Given the description of an element on the screen output the (x, y) to click on. 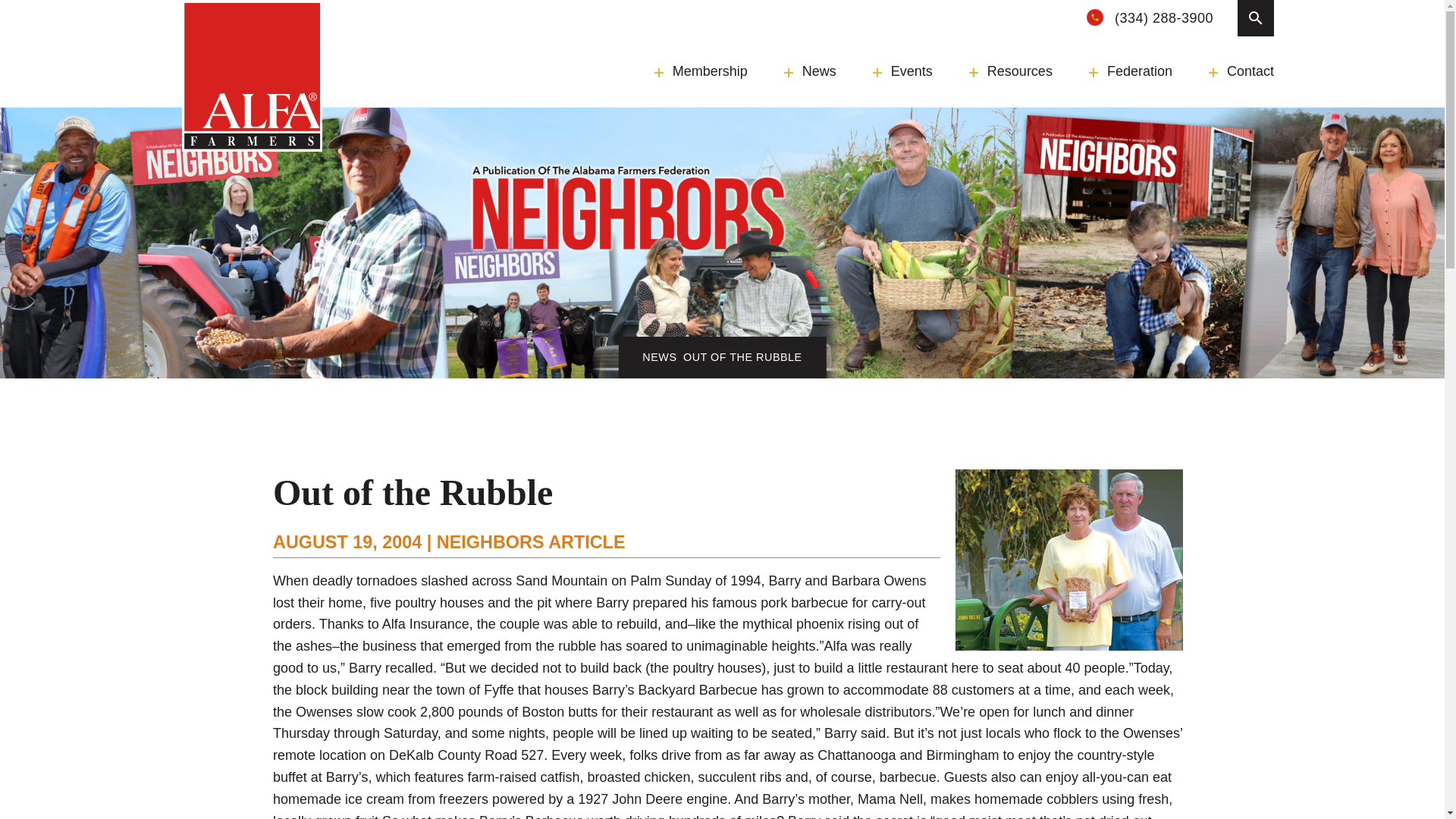
Search (416, 12)
Federation (1130, 71)
News (809, 71)
Alabama Farmers Federation (251, 75)
Resources (1010, 71)
Membership (700, 71)
Search (1255, 18)
Contact (1241, 71)
Events (902, 71)
Alabama Farmers Federation (251, 75)
